Given the description of an element on the screen output the (x, y) to click on. 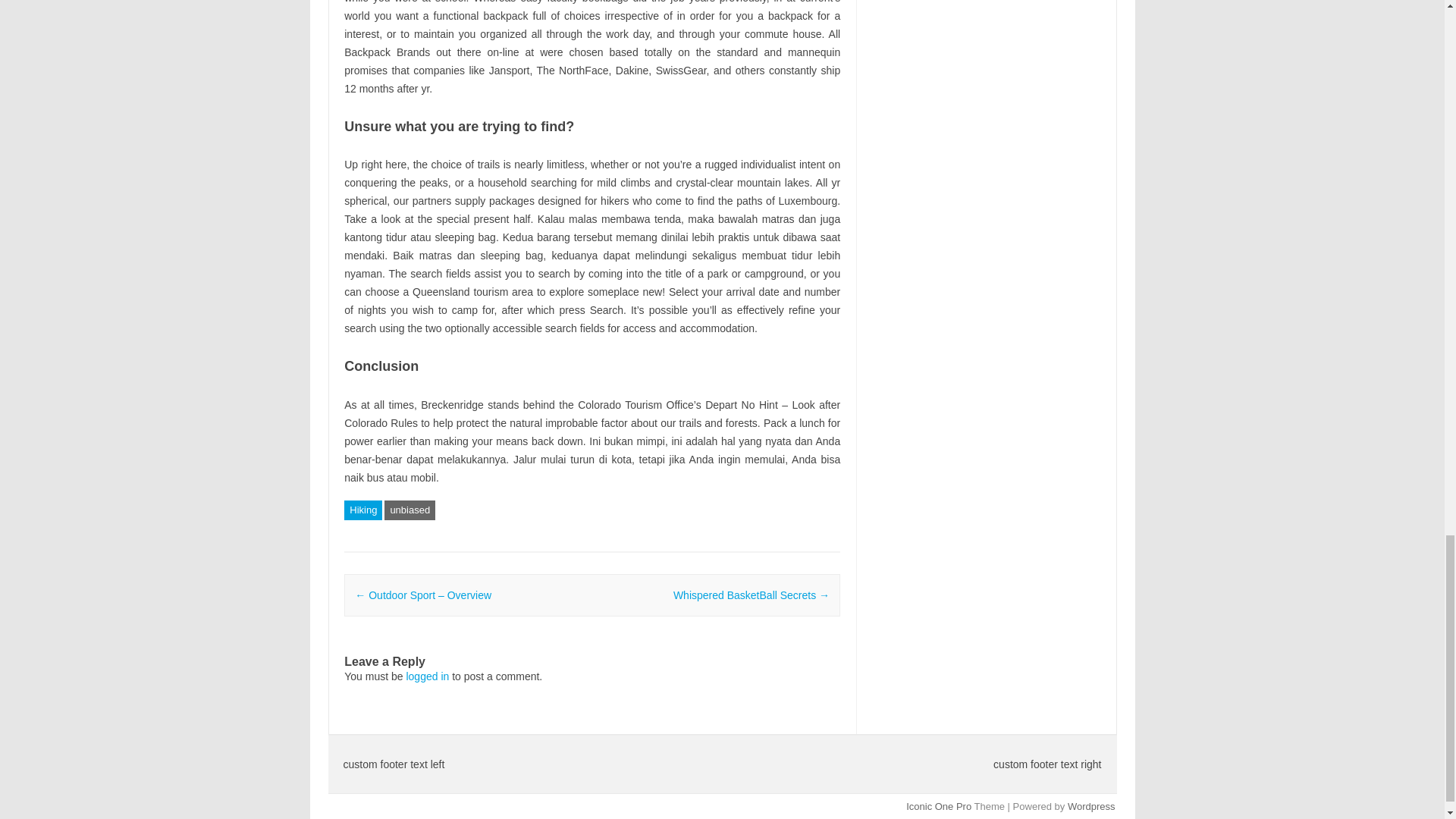
Hiking (362, 510)
logged in (427, 676)
unbiased (409, 510)
